Given the description of an element on the screen output the (x, y) to click on. 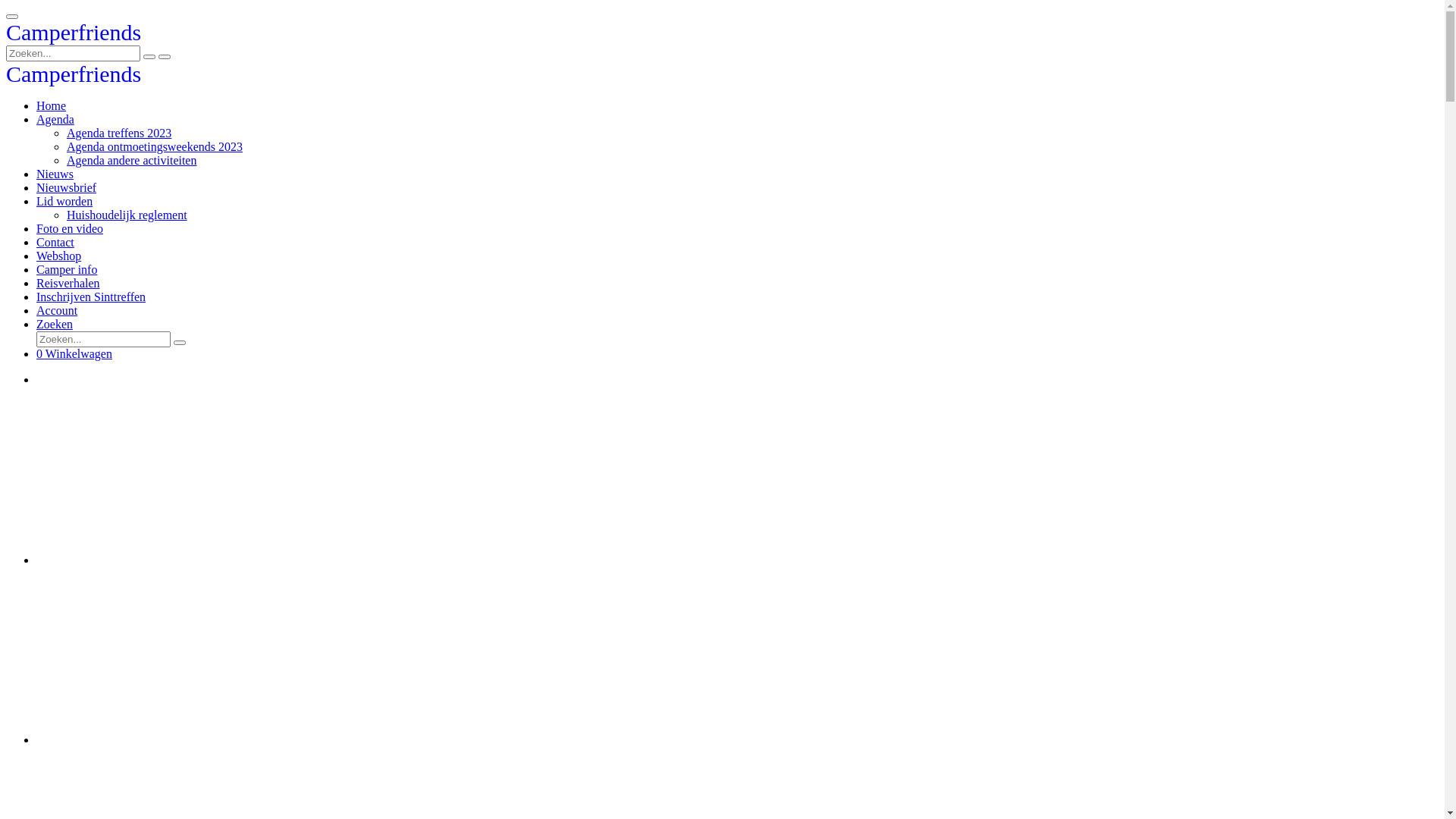
Huishoudelijk reglement Element type: text (126, 214)
Camperfriends Element type: text (73, 77)
Foto en video Element type: text (69, 228)
Reisverhalen Element type: text (68, 282)
Contact Element type: text (55, 241)
Nieuwsbrief Element type: text (66, 187)
Home Element type: text (50, 105)
Account Element type: text (56, 310)
Agenda treffens 2023 Element type: text (118, 132)
Camper info Element type: text (66, 269)
Inschrijven Sinttreffen Element type: text (90, 296)
Zoeken Element type: text (54, 323)
Nieuws Element type: text (54, 173)
Camperfriends Element type: text (73, 35)
Agenda Element type: text (55, 118)
Webshop Element type: text (58, 255)
Agenda ontmoetingsweekends 2023 Element type: text (154, 146)
Agenda andere activiteiten Element type: text (131, 159)
Lid worden Element type: text (64, 200)
0 Winkelwagen Element type: text (74, 353)
